Given the description of an element on the screen output the (x, y) to click on. 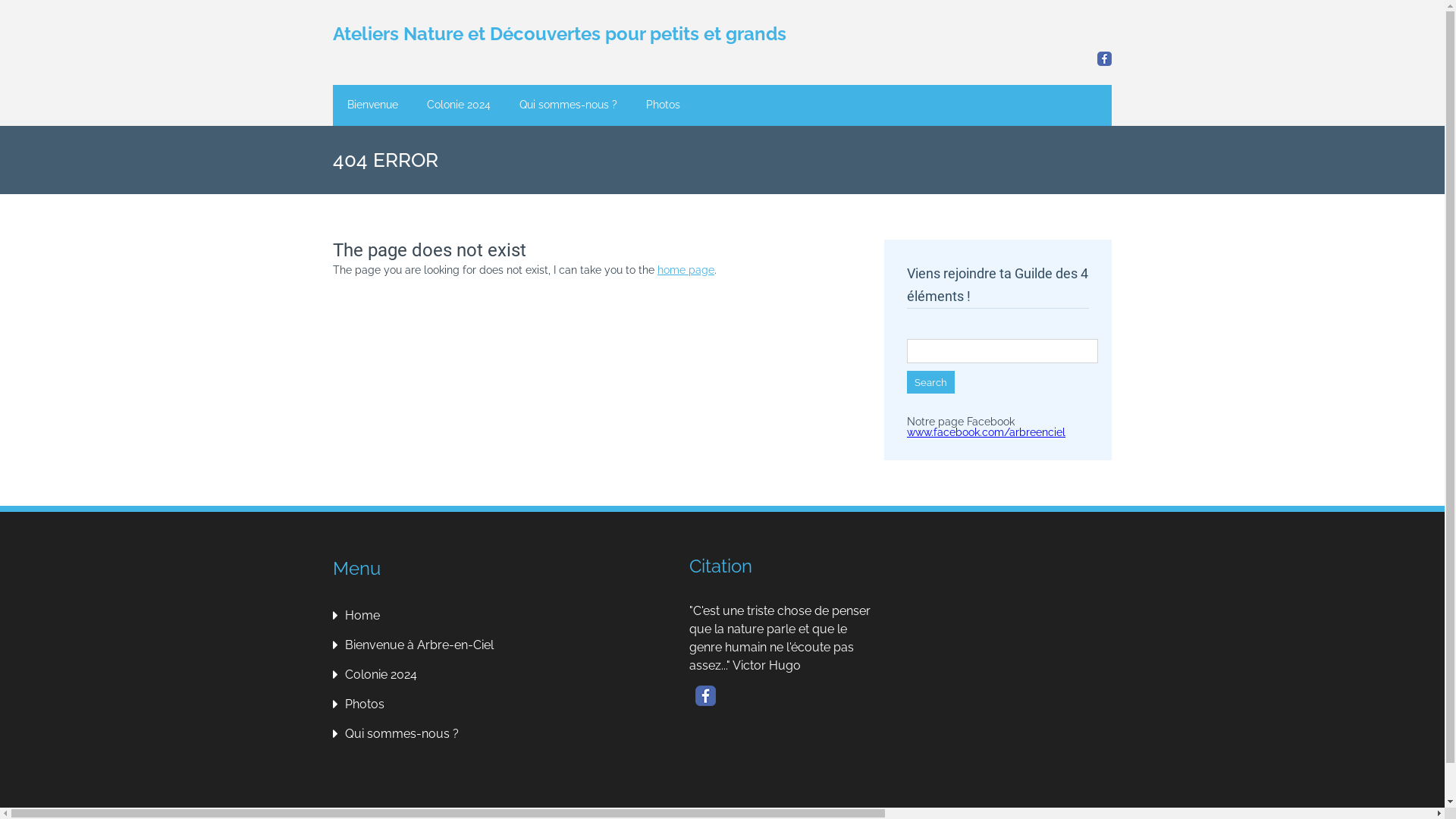
Bienvenue Element type: text (372, 104)
Facebook Element type: hover (705, 695)
Colonie 2024 Element type: text (458, 104)
Colonie 2024 Element type: text (377, 674)
Search Element type: text (930, 381)
Home Element type: text (358, 615)
Photos Element type: text (662, 104)
Photos Element type: text (360, 703)
Qui sommes-nous ? Element type: text (397, 733)
Qui sommes-nous ? Element type: text (568, 104)
www.facebook.com/arbreenciel Element type: text (985, 432)
home page Element type: text (685, 269)
Facebook Element type: hover (1104, 58)
